Given the description of an element on the screen output the (x, y) to click on. 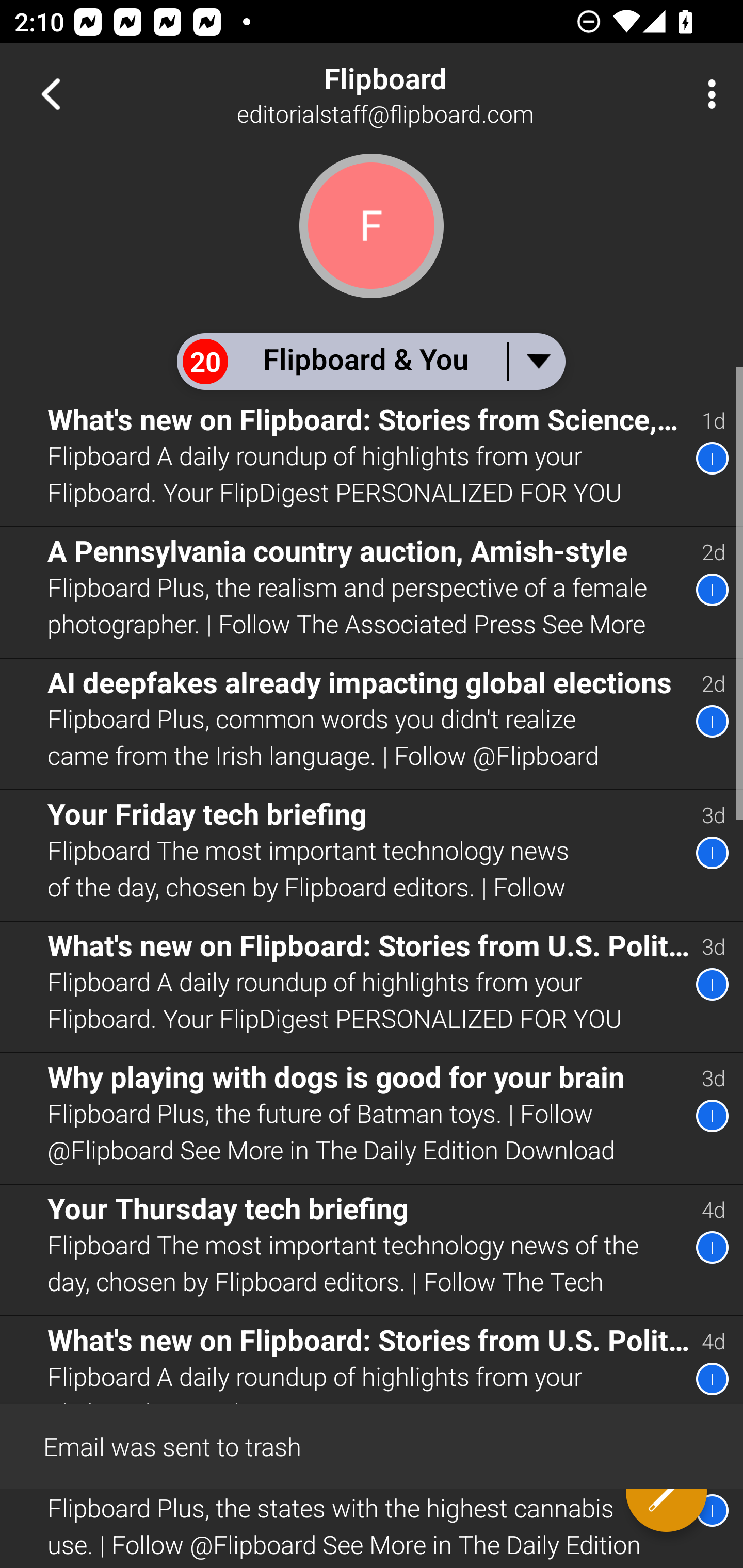
Navigate up (50, 93)
Flipboard editorialstaff@flipboard.com (436, 93)
More Options (706, 93)
20 Flipboard & You (370, 361)
Email was sent to trash (371, 1445)
